Given the description of an element on the screen output the (x, y) to click on. 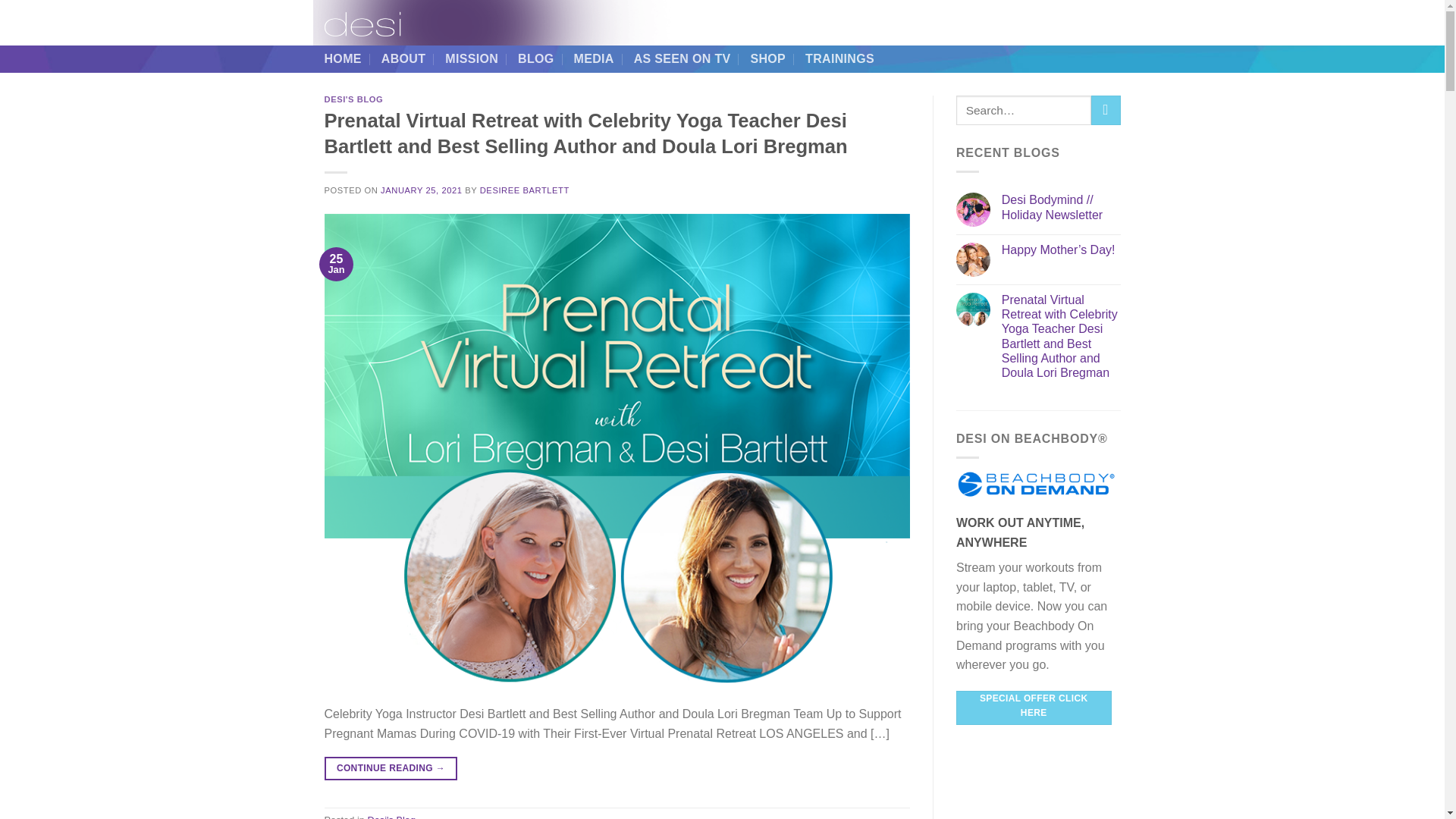
MEDIA (593, 58)
MISSION (471, 58)
SHOP (767, 58)
ABOUT (403, 58)
Follow on YouTube (1109, 22)
BLOG (536, 58)
JANUARY 25, 2021 (420, 189)
VISIT DESIBODYMIND.COM (947, 22)
HOME (342, 58)
AS SEEN ON TV (681, 58)
Desi's Blog (390, 816)
DESI'S BLOG (354, 99)
Follow on Twitter (1090, 22)
